Given the description of an element on the screen output the (x, y) to click on. 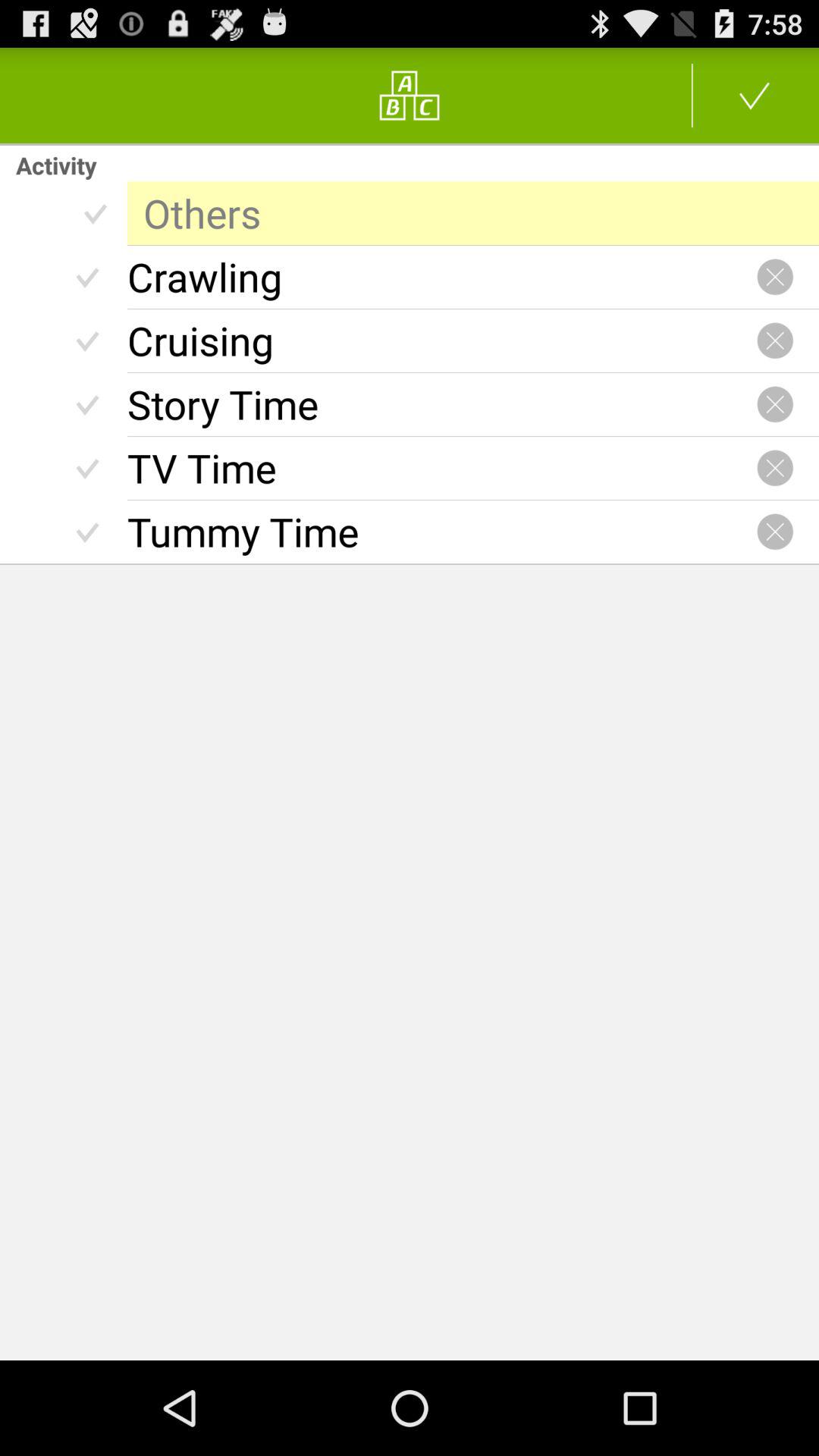
turn on the cruising item (441, 340)
